Given the description of an element on the screen output the (x, y) to click on. 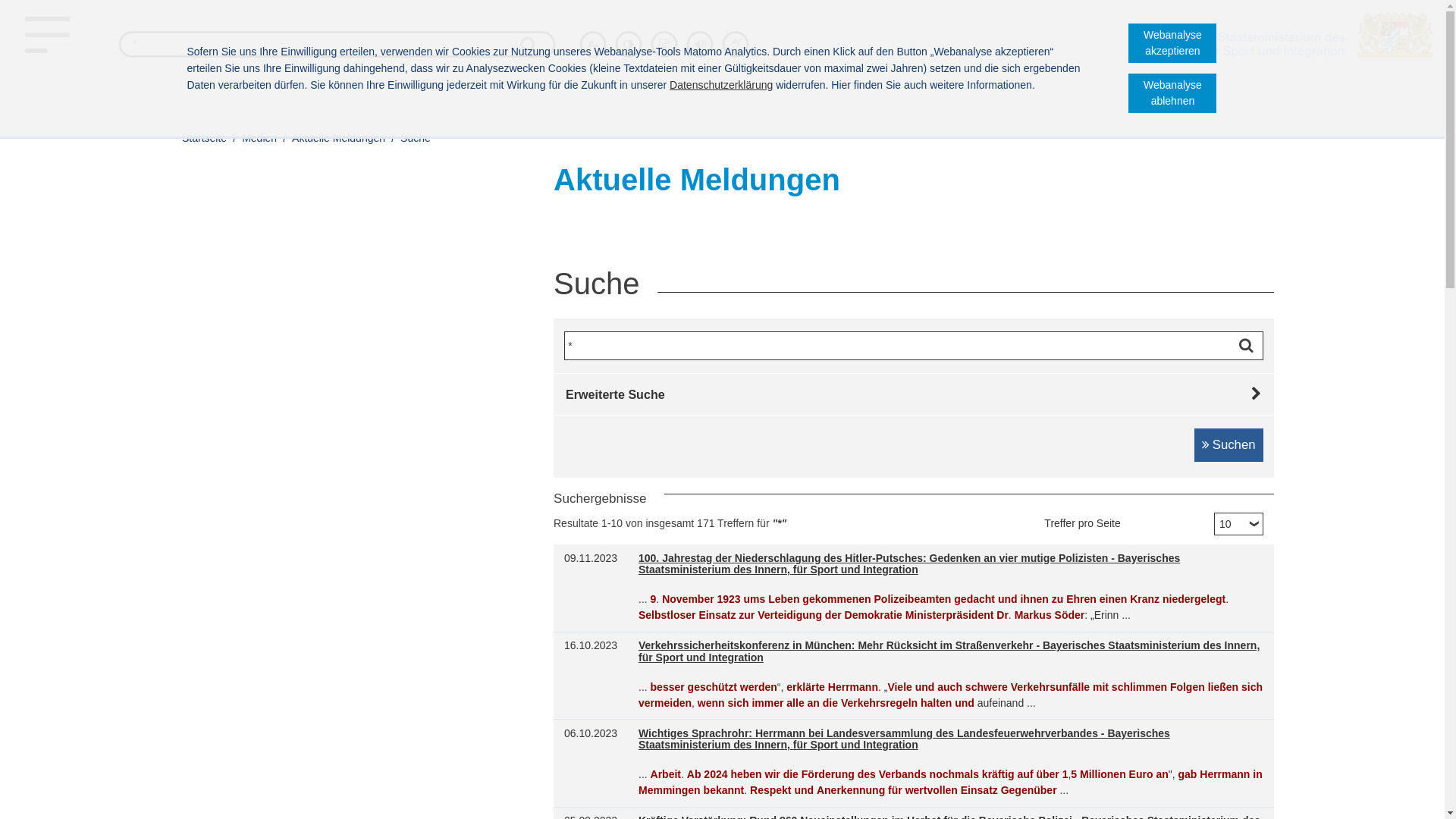
Medien Element type: text (259, 137)
Suche Element type: text (415, 137)
Suche starten Element type: text (1249, 345)
Startseite Element type: text (206, 137)
Suchen Element type: text (1228, 444)
Aktuelle Seite vorlesen lassen Element type: hover (700, 44)
Aktuelle Meldungen Element type: text (338, 137)
Webanalyse akzeptieren Element type: text (1172, 42)
Kontrast anpassen Element type: hover (628, 44)
Webanalyse ablehnen Element type: text (1172, 92)
Erweiterte Suche Element type: text (913, 393)
Einfachen Inhalt anzeigen Element type: hover (663, 44)
